Given the description of an element on the screen output the (x, y) to click on. 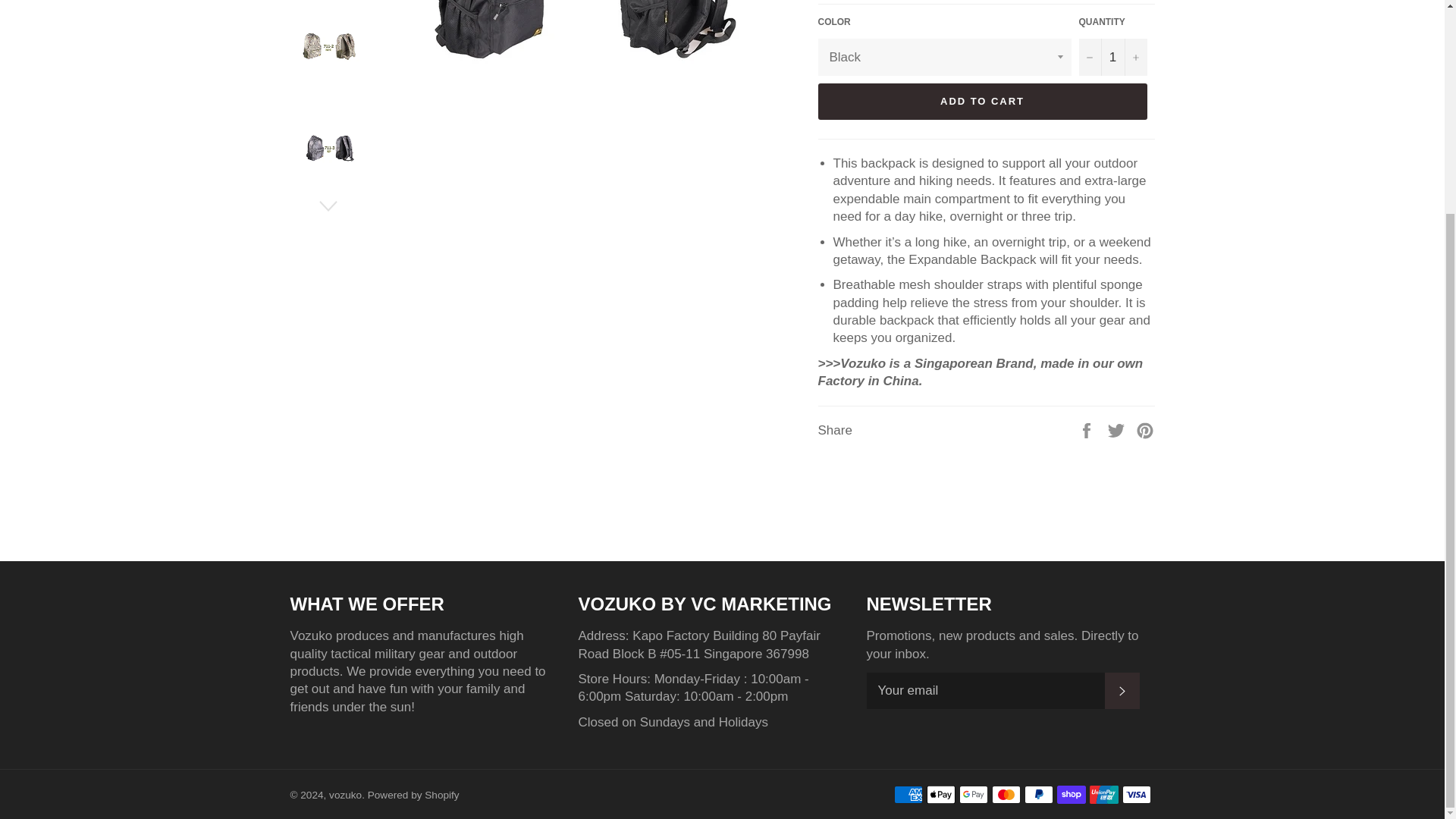
Pin on Pinterest (1144, 430)
Tweet on Twitter (1117, 430)
1 (1112, 57)
Share on Facebook (1088, 430)
